Given the description of an element on the screen output the (x, y) to click on. 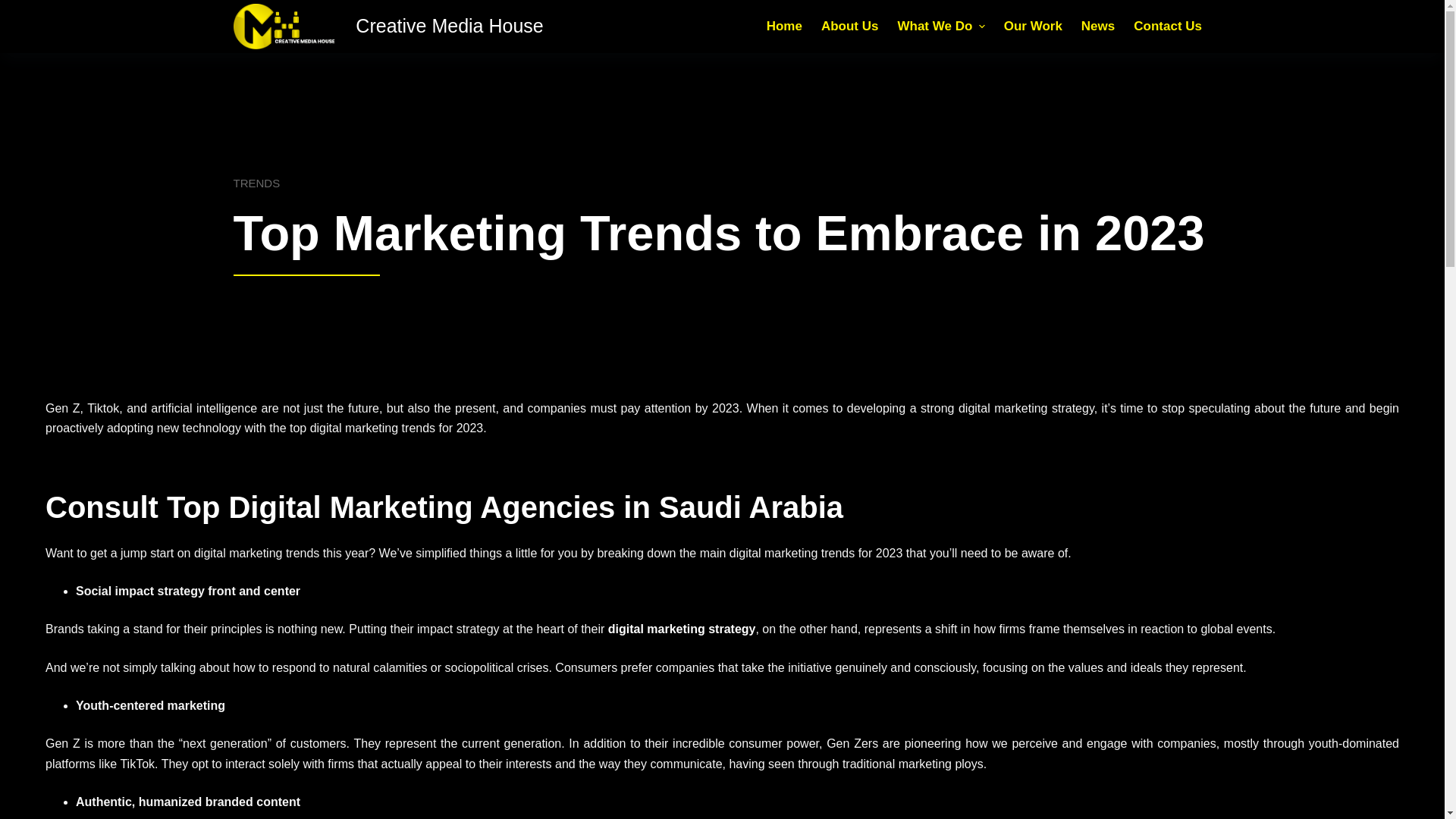
About Us (849, 26)
Creative Media House (449, 25)
Contact Us (1167, 26)
News (1097, 26)
Our Work (1032, 26)
Home (783, 26)
Skip to content (15, 7)
What We Do (941, 26)
